Given the description of an element on the screen output the (x, y) to click on. 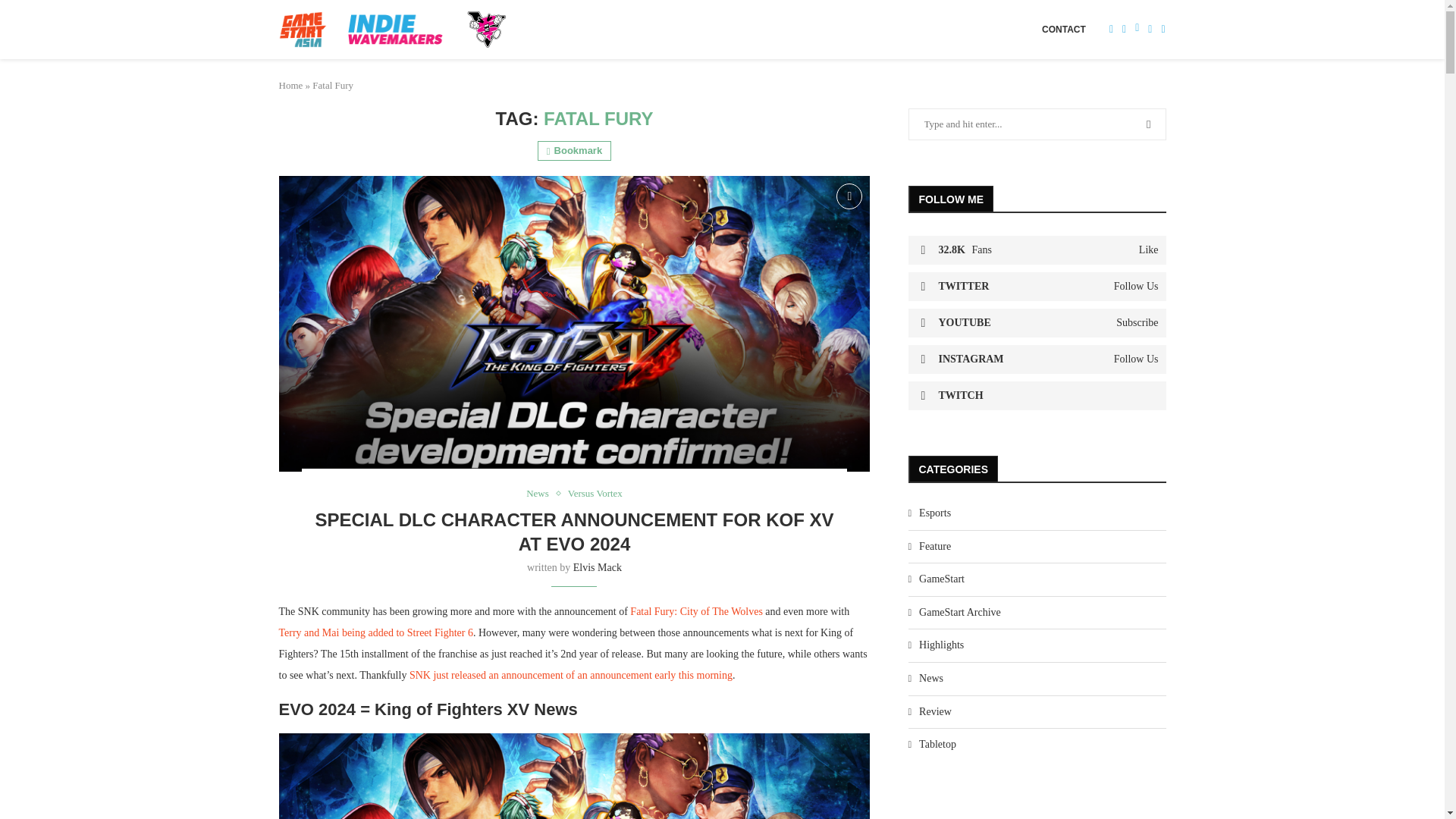
Home (290, 84)
Bookmark (574, 150)
News (540, 493)
CONTACT (1064, 29)
Elvis Mack (597, 567)
Bookmark (848, 196)
SPECIAL DLC CHARACTER ANNOUNCEMENT FOR KOF XV AT EVO 2024 (573, 531)
Terry and Mai being added to Street Fighter 6 (376, 632)
Fatal Fury: City of The Wolves (696, 611)
Versus Vortex (595, 493)
